Given the description of an element on the screen output the (x, y) to click on. 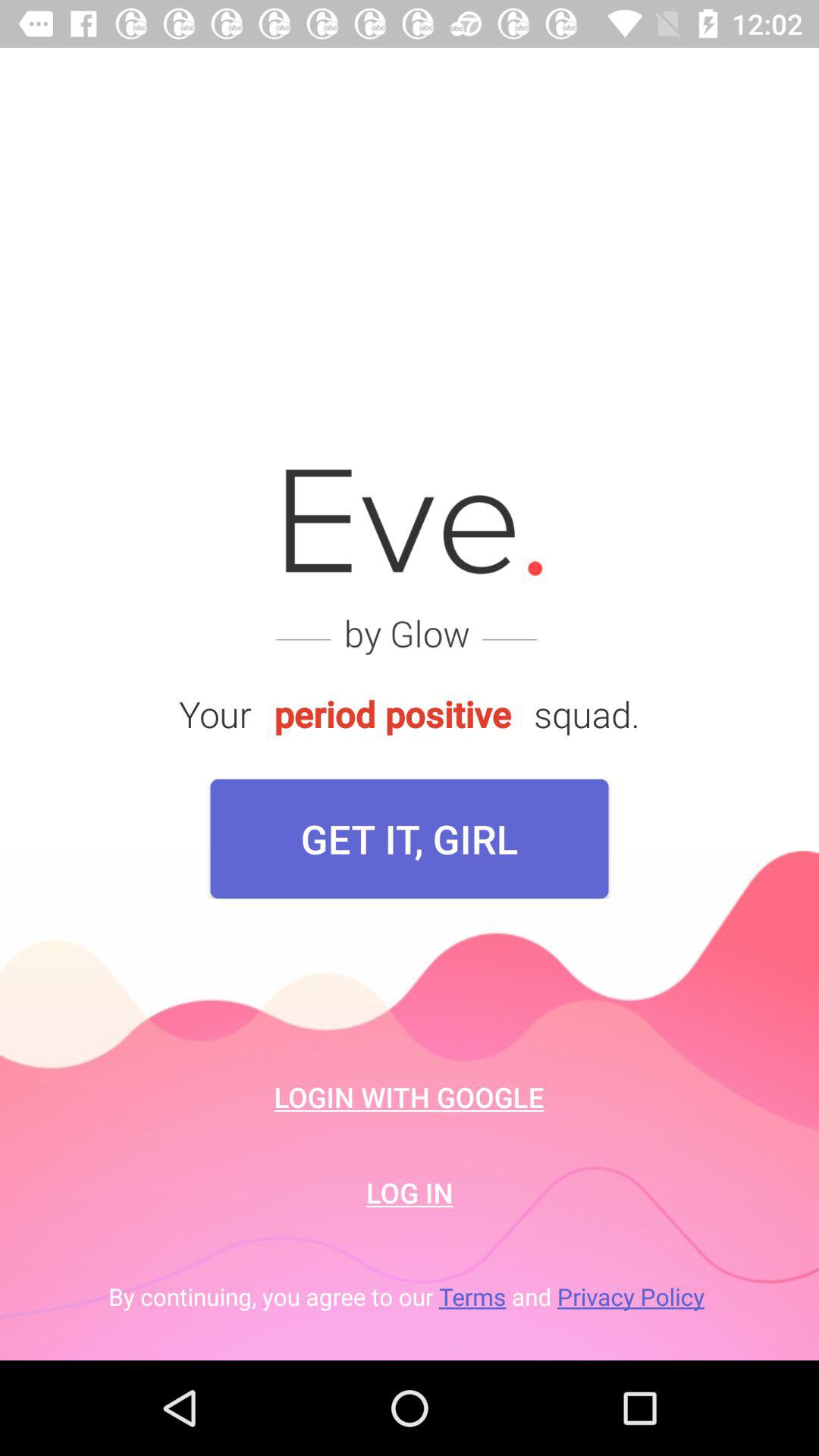
choose the  log in (409, 1192)
